Given the description of an element on the screen output the (x, y) to click on. 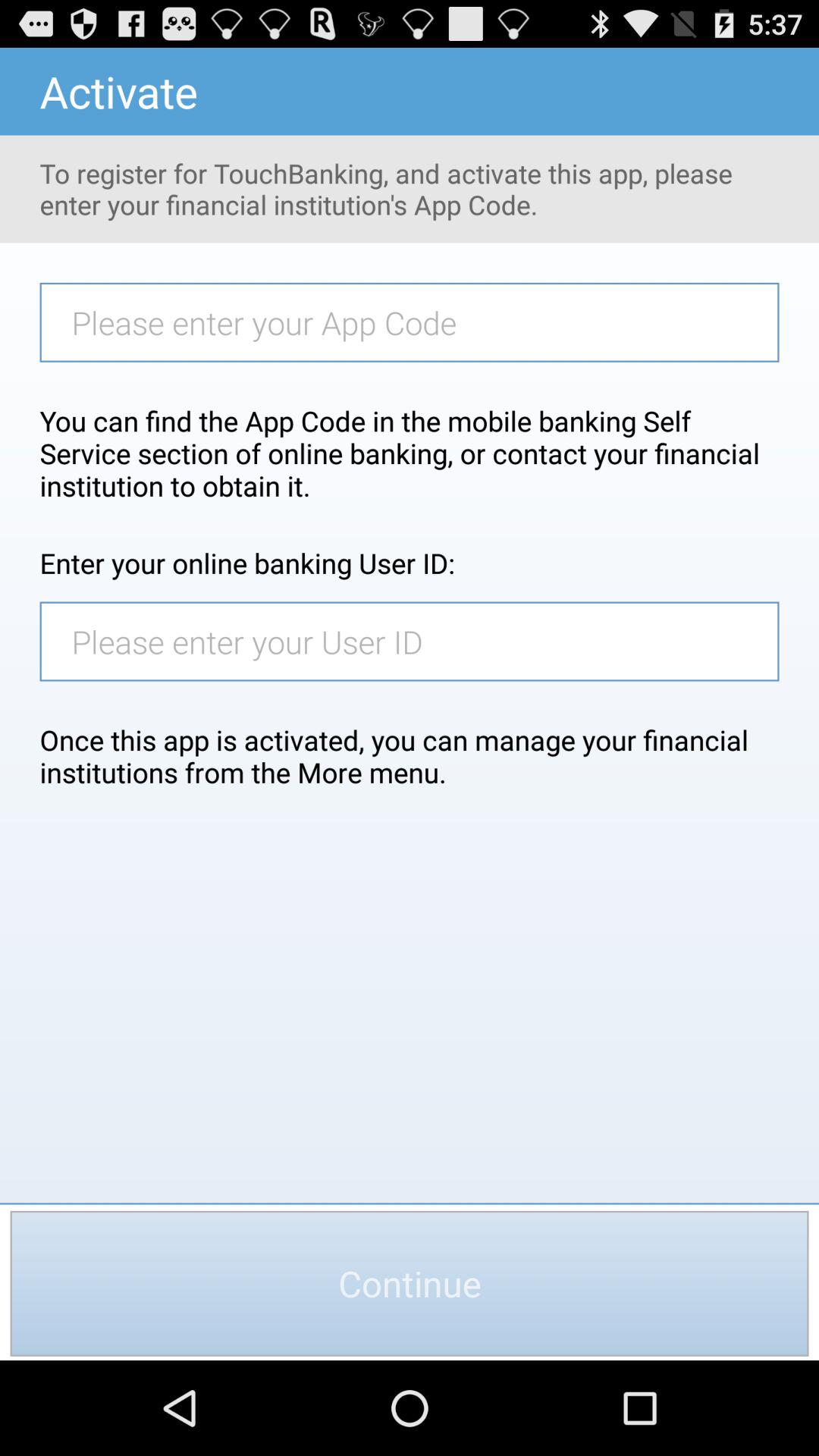
type in user id (417, 641)
